Given the description of an element on the screen output the (x, y) to click on. 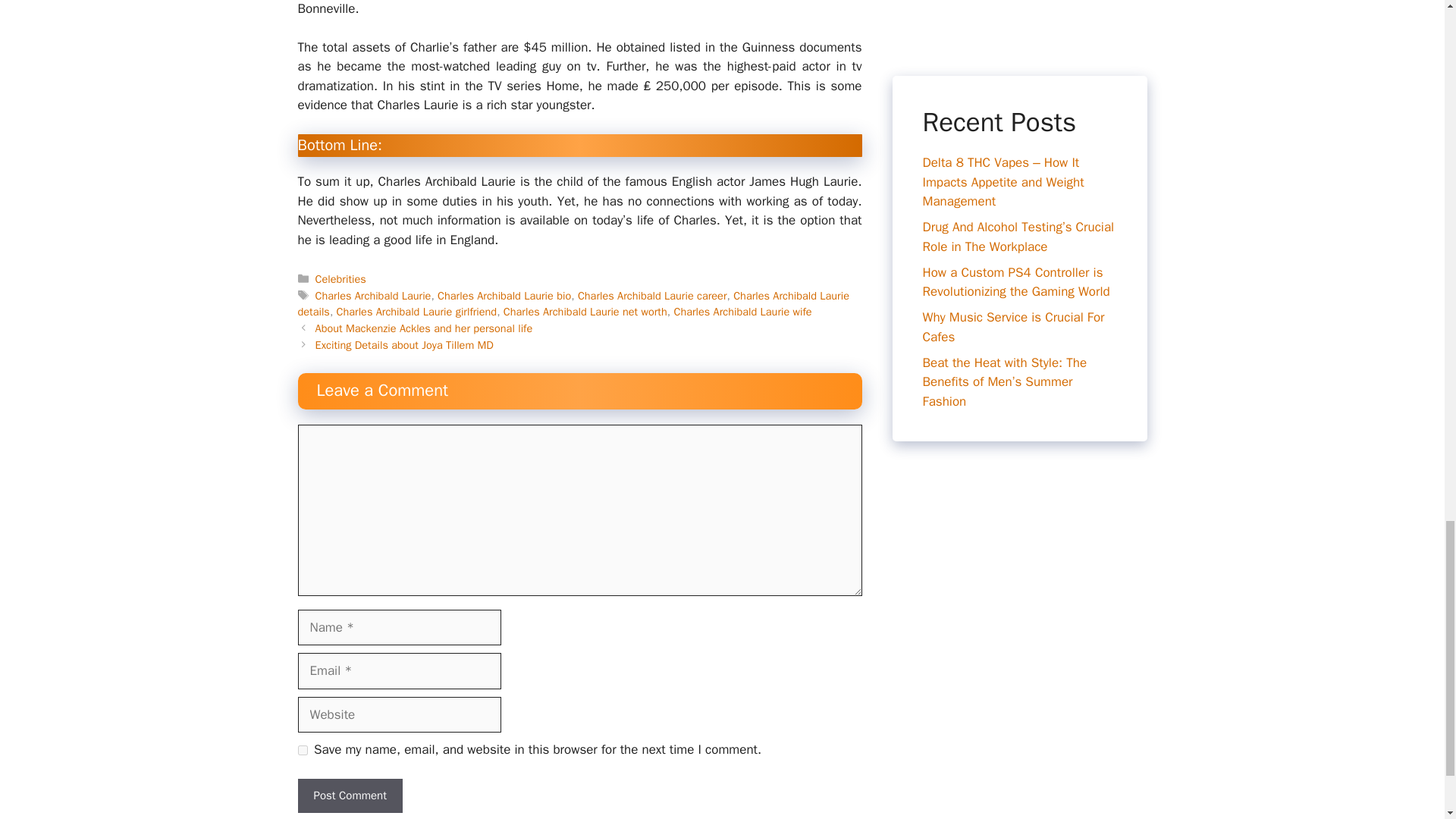
Post Comment (349, 795)
Celebrities (340, 278)
Charles Archibald Laurie career (652, 295)
Charles Archibald Laurie (372, 295)
About Mackenzie Ackles and her personal life (423, 327)
yes (302, 750)
Exciting Details about Joya Tillem MD (404, 345)
Charles Archibald Laurie details (572, 304)
Post Comment (349, 795)
Charles Archibald Laurie wife (741, 311)
